Given the description of an element on the screen output the (x, y) to click on. 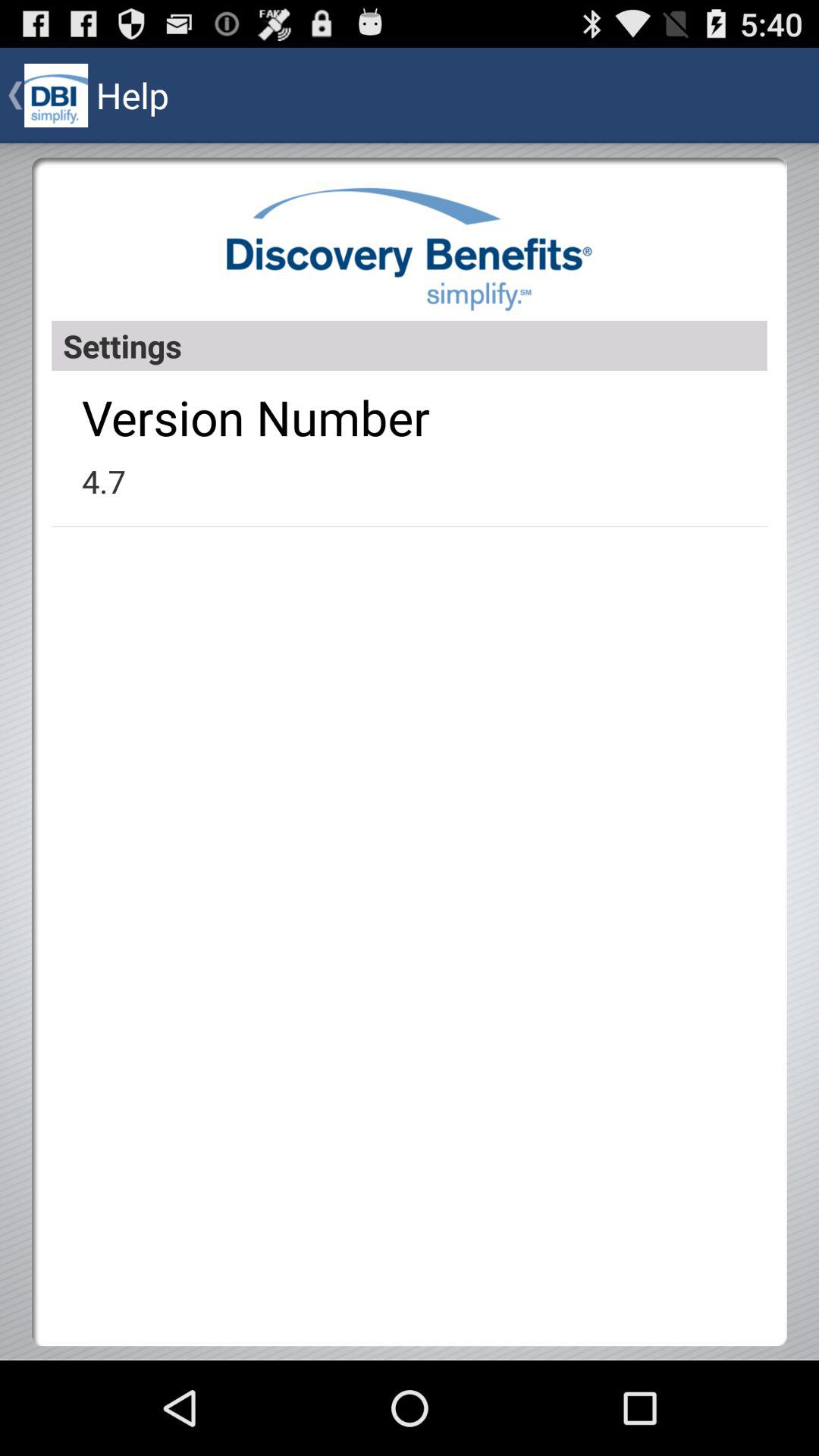
tap item above the settings (409, 248)
